Given the description of an element on the screen output the (x, y) to click on. 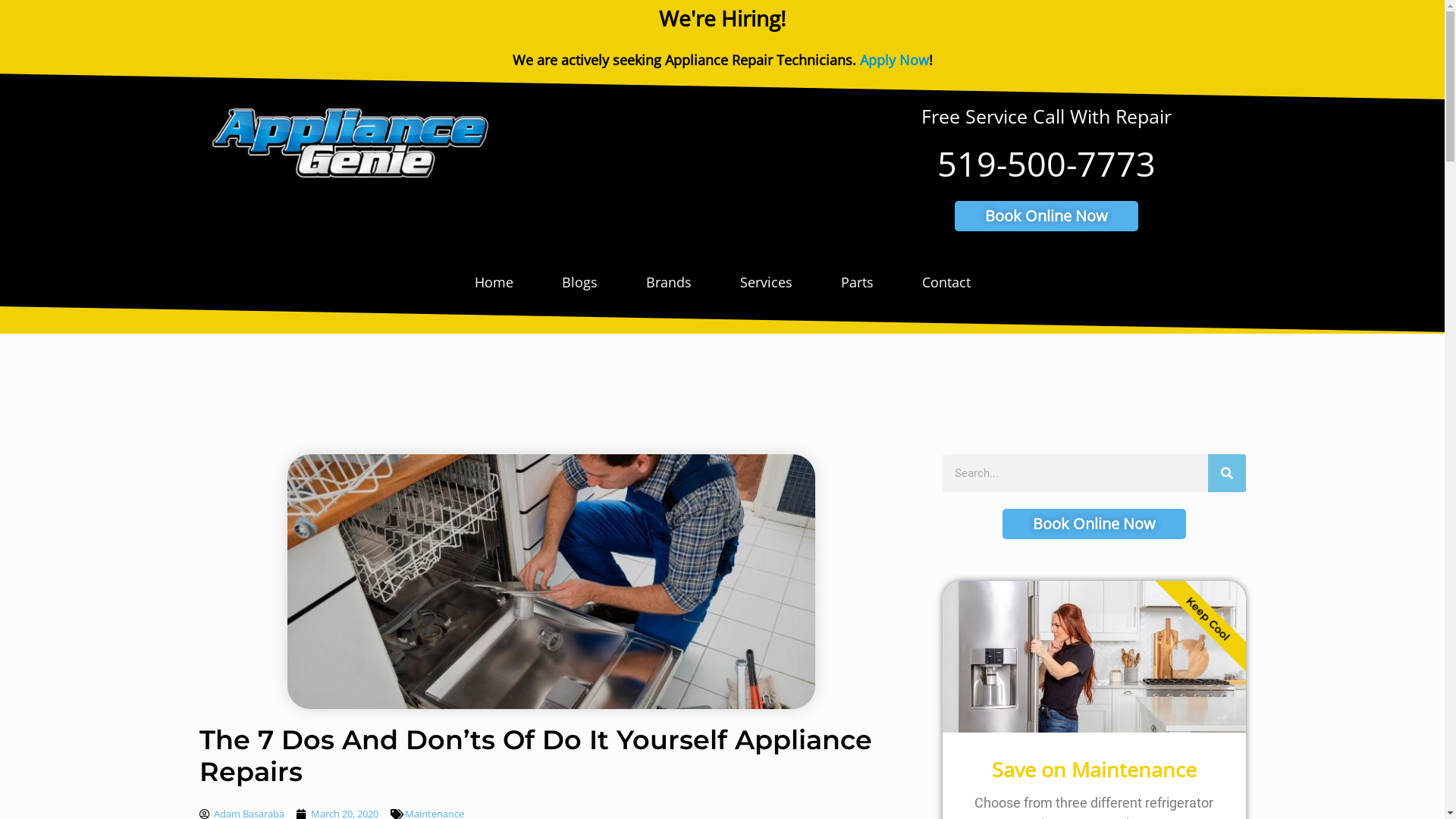
Services Element type: text (765, 281)
Parts Element type: text (856, 281)
Search Element type: text (1226, 473)
Book Online Now Element type: text (1046, 215)
Home Element type: text (493, 281)
Book Online Now Element type: text (1094, 523)
Contact Element type: text (945, 281)
Apply Now Element type: text (893, 59)
Blogs Element type: text (578, 281)
Brands Element type: text (668, 281)
